Given the description of an element on the screen output the (x, y) to click on. 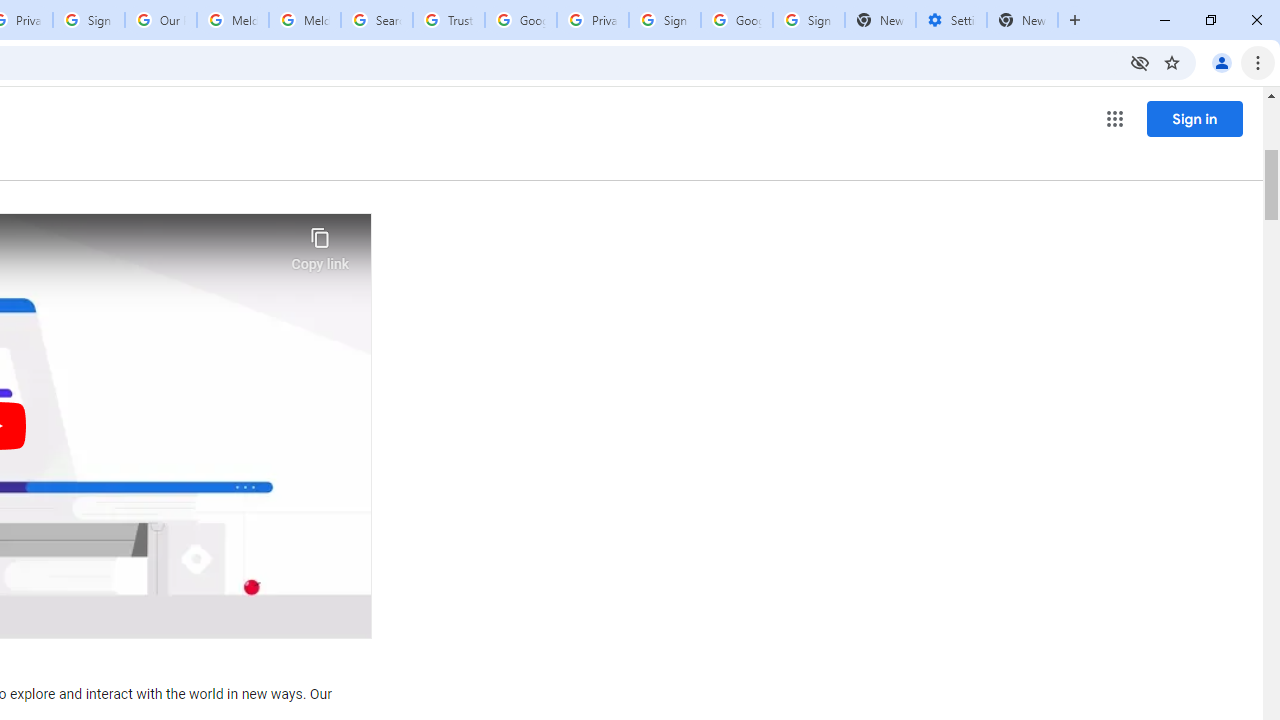
Search our Doodle Library Collection - Google Doodles (376, 20)
Sign in - Google Accounts (808, 20)
Copy link (319, 244)
New Tab (1022, 20)
Google Cybersecurity Innovations - Google Safety Center (737, 20)
